Given the description of an element on the screen output the (x, y) to click on. 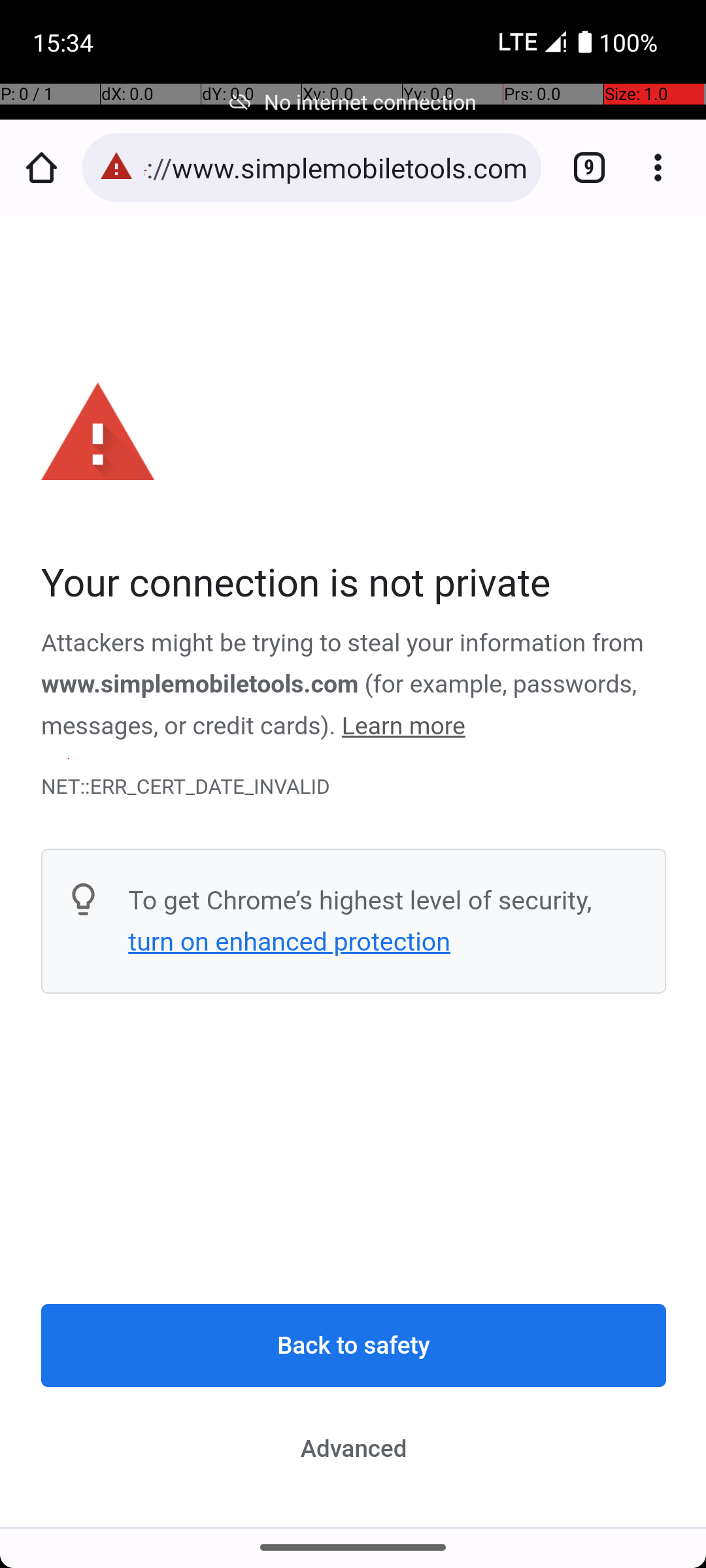
https://www.simplemobiletools.com/donate#paypal Element type: android.widget.EditText (335, 167)
www.simplemobiletools.com Element type: android.widget.TextView (200, 684)
